Given the description of an element on the screen output the (x, y) to click on. 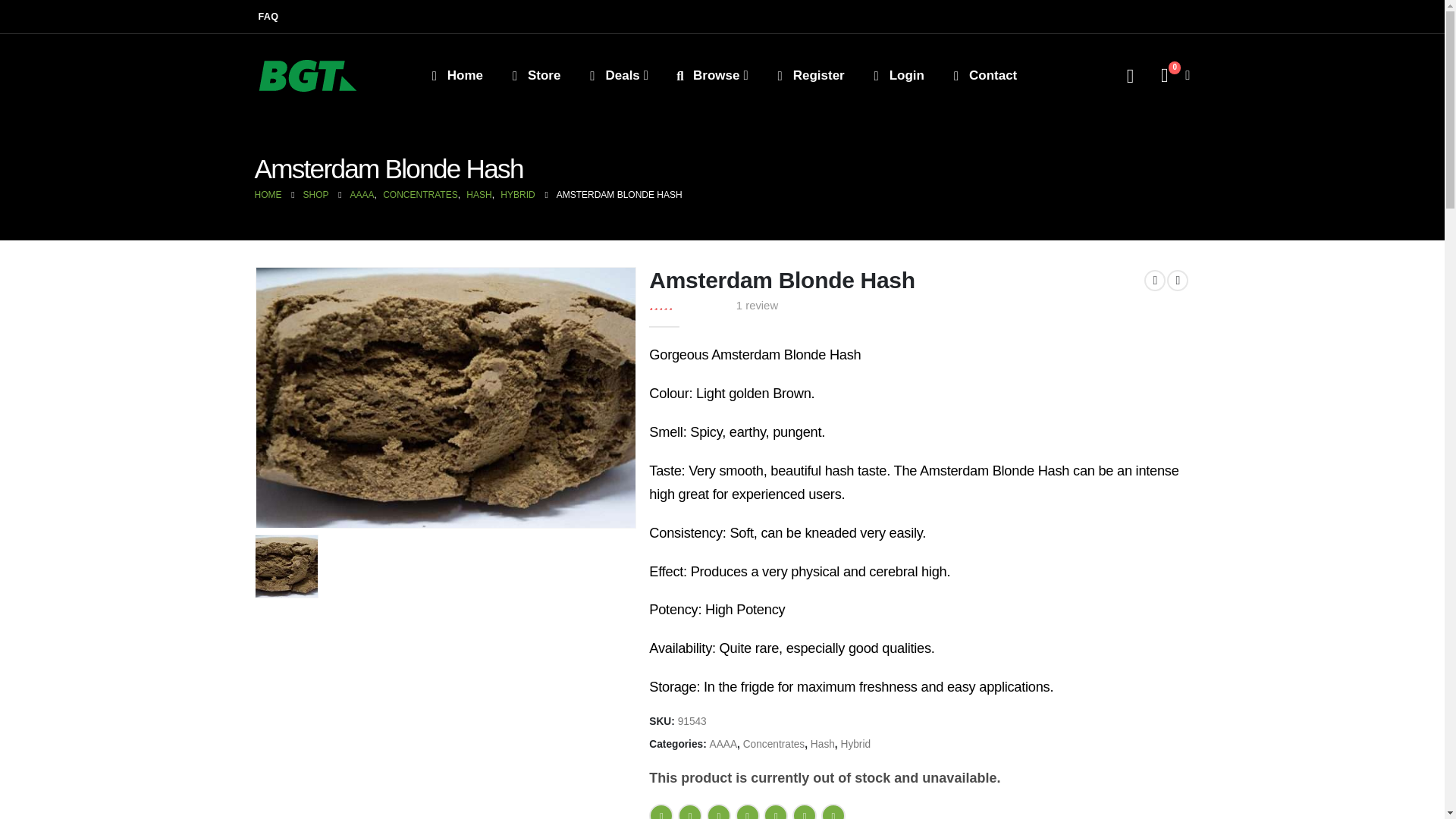
Amsterdam Blonde Hash (285, 566)
Contact (983, 75)
Home (454, 75)
Pinterest (747, 811)
Store (534, 75)
LinkedIn (718, 811)
Amsterdam Blonde Hash (446, 397)
Deals (617, 75)
Twitter (689, 811)
Browse (710, 75)
